Given the description of an element on the screen output the (x, y) to click on. 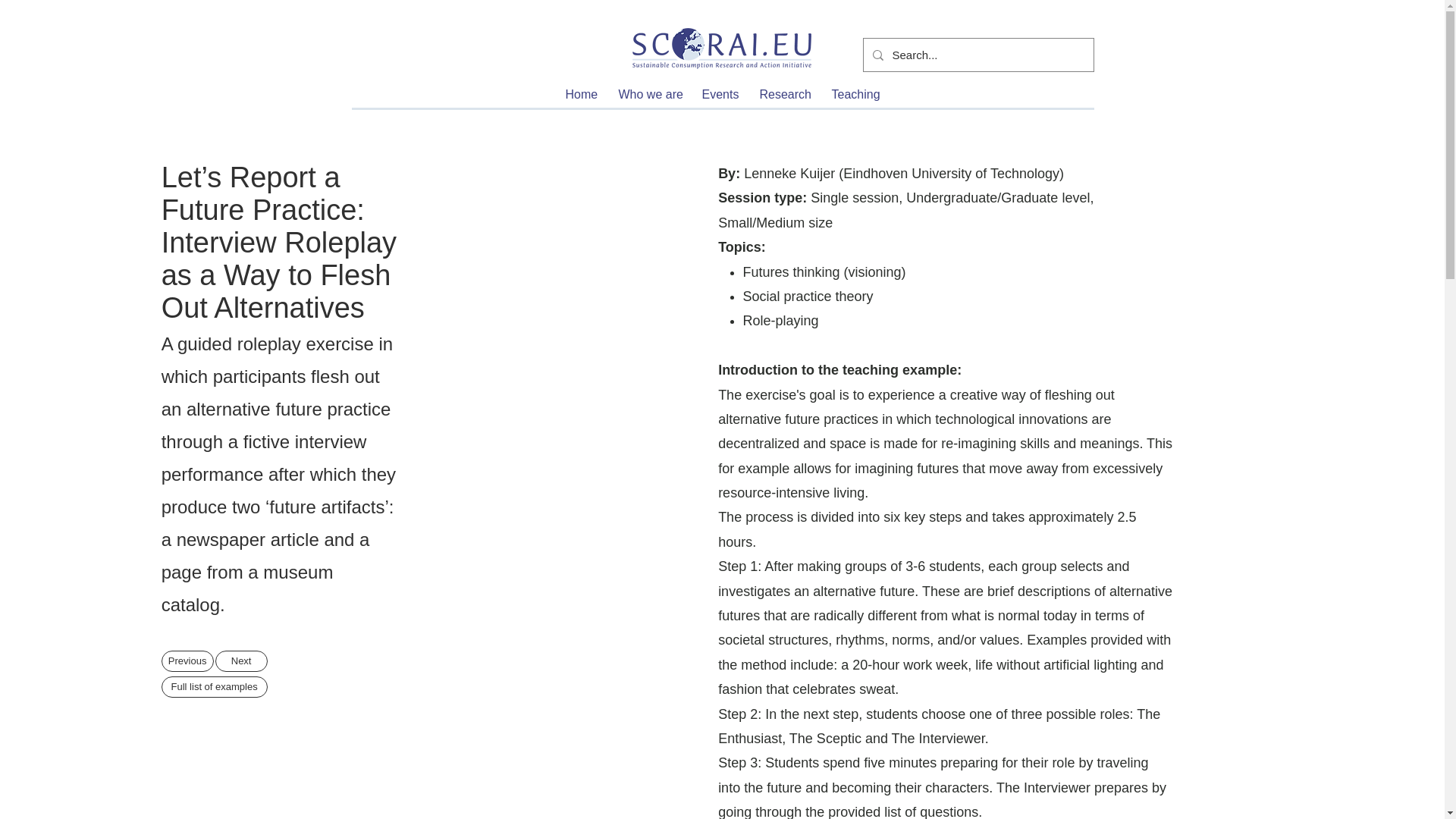
Research (783, 94)
Next (241, 660)
Who we are (648, 94)
Teaching (854, 94)
Home (580, 94)
Full list of examples (214, 686)
Previous (187, 660)
Events (719, 94)
